Given the description of an element on the screen output the (x, y) to click on. 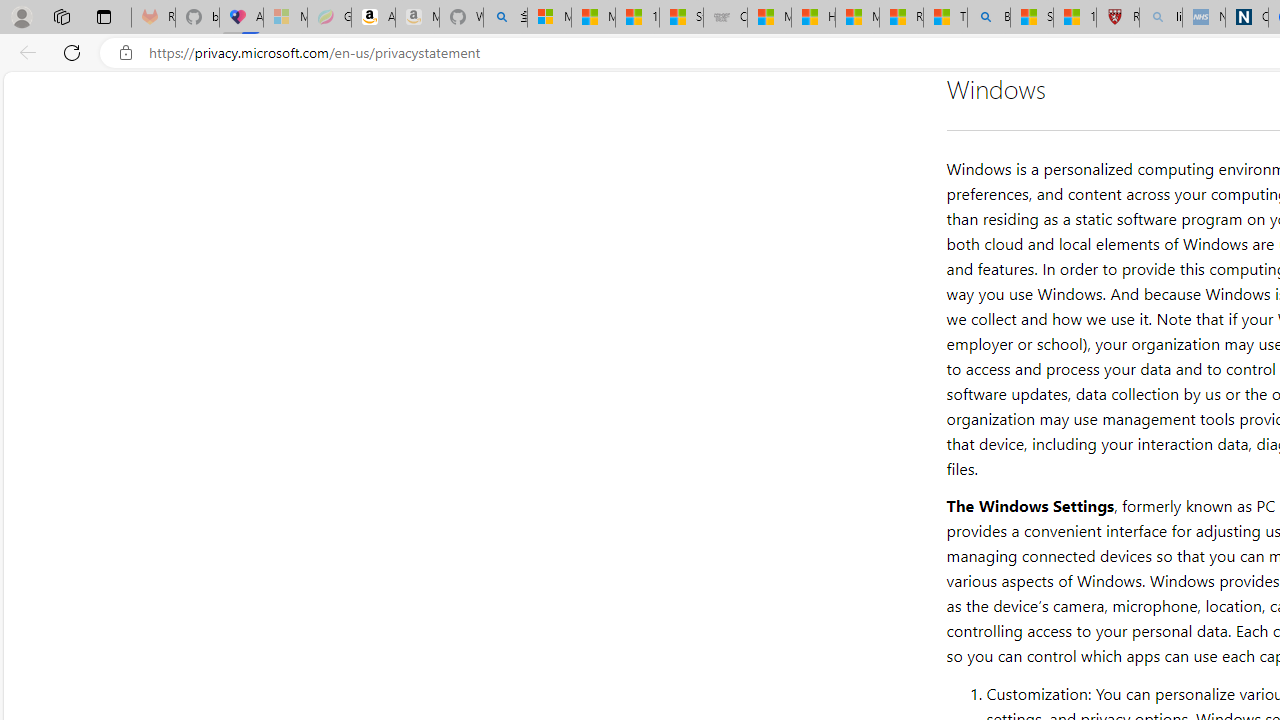
How I Got Rid of Microsoft Edge's Unnecessary Features (813, 17)
Bing (988, 17)
Robert H. Shmerling, MD - Harvard Health (1118, 17)
Recipes - MSN (900, 17)
